Given the description of an element on the screen output the (x, y) to click on. 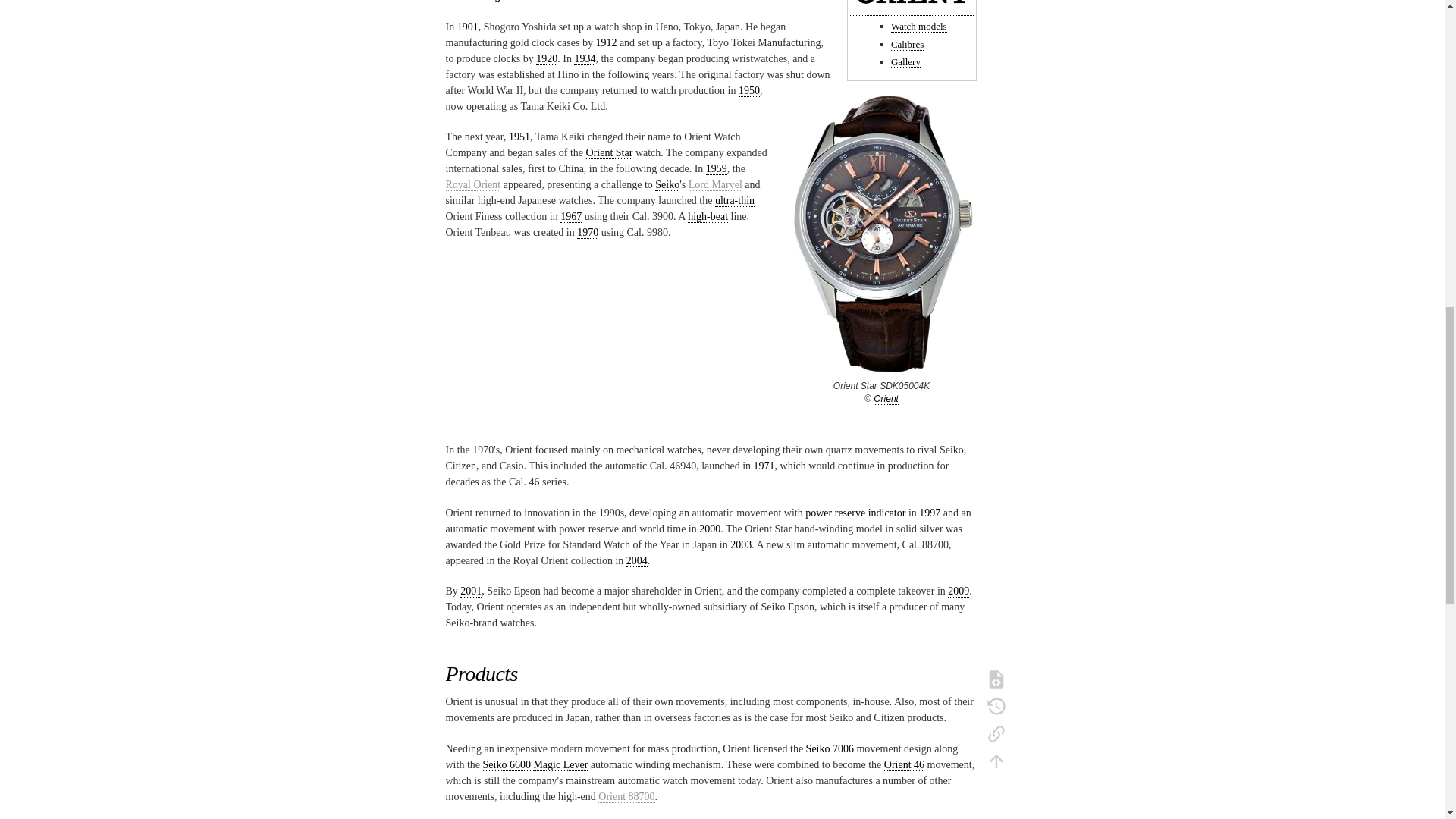
Lord Marvel (715, 184)
Orient Star (609, 152)
Orient (885, 398)
Seiko (667, 184)
Royal Orient (472, 184)
1967 (570, 216)
ultra-thin (734, 200)
1959 (716, 168)
1901 (468, 27)
1934 (584, 59)
1912 (605, 42)
Watch models (919, 26)
1951 (518, 137)
Calibres (907, 44)
Gallery (905, 61)
